Given the description of an element on the screen output the (x, y) to click on. 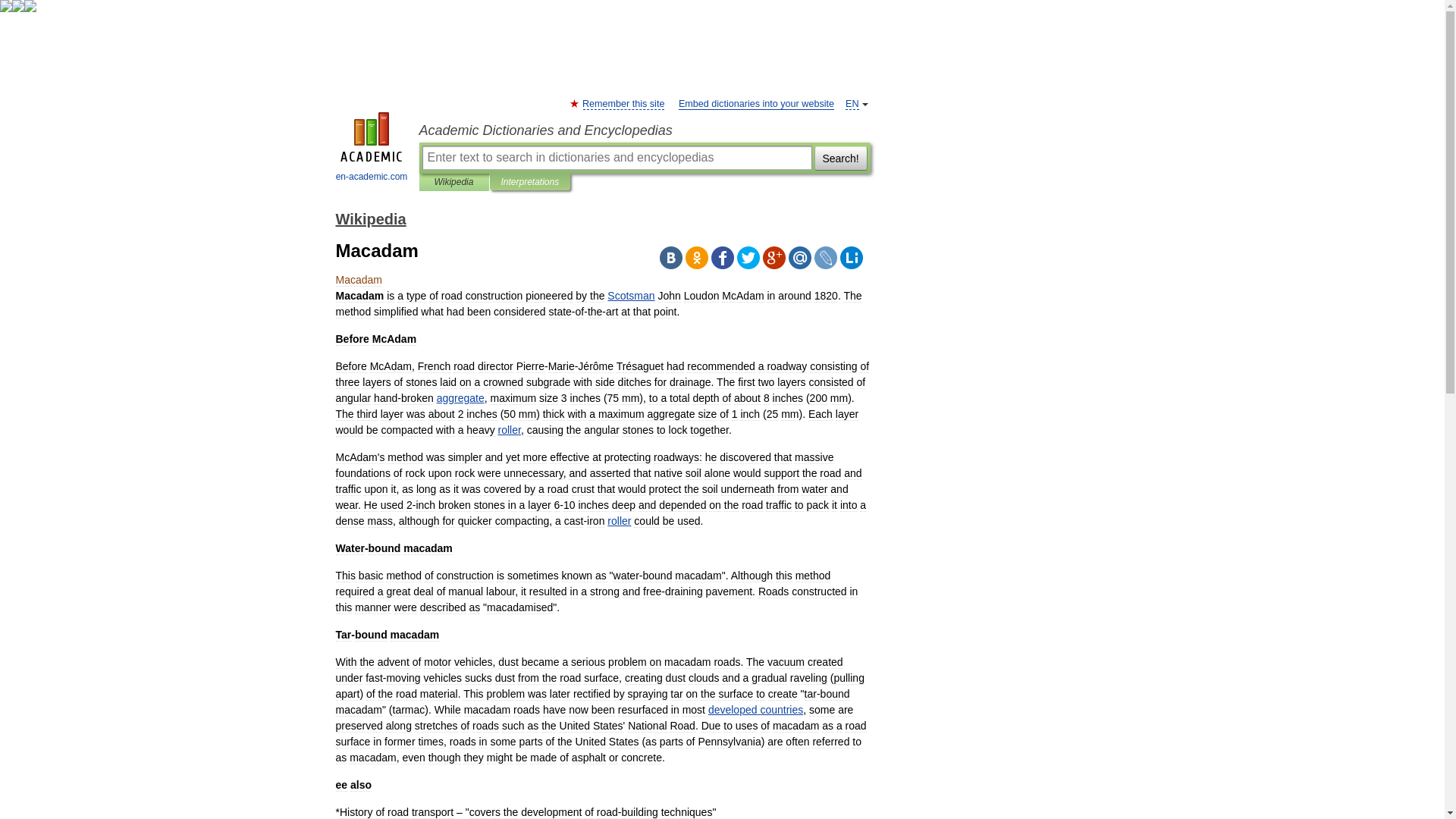
developed countries (755, 709)
roller (618, 521)
Scotsman (630, 295)
Academic Dictionaries and Encyclopedias (644, 130)
Interpretations (529, 181)
EN (852, 103)
roller (509, 429)
Search! (840, 157)
aggregate (460, 398)
Enter text to search in dictionaries and encyclopedias (616, 157)
Remember this site (623, 103)
Wikipedia (370, 218)
Wikipedia (453, 181)
en-academic.com (371, 148)
Embed dictionaries into your website (756, 103)
